Given the description of an element on the screen output the (x, y) to click on. 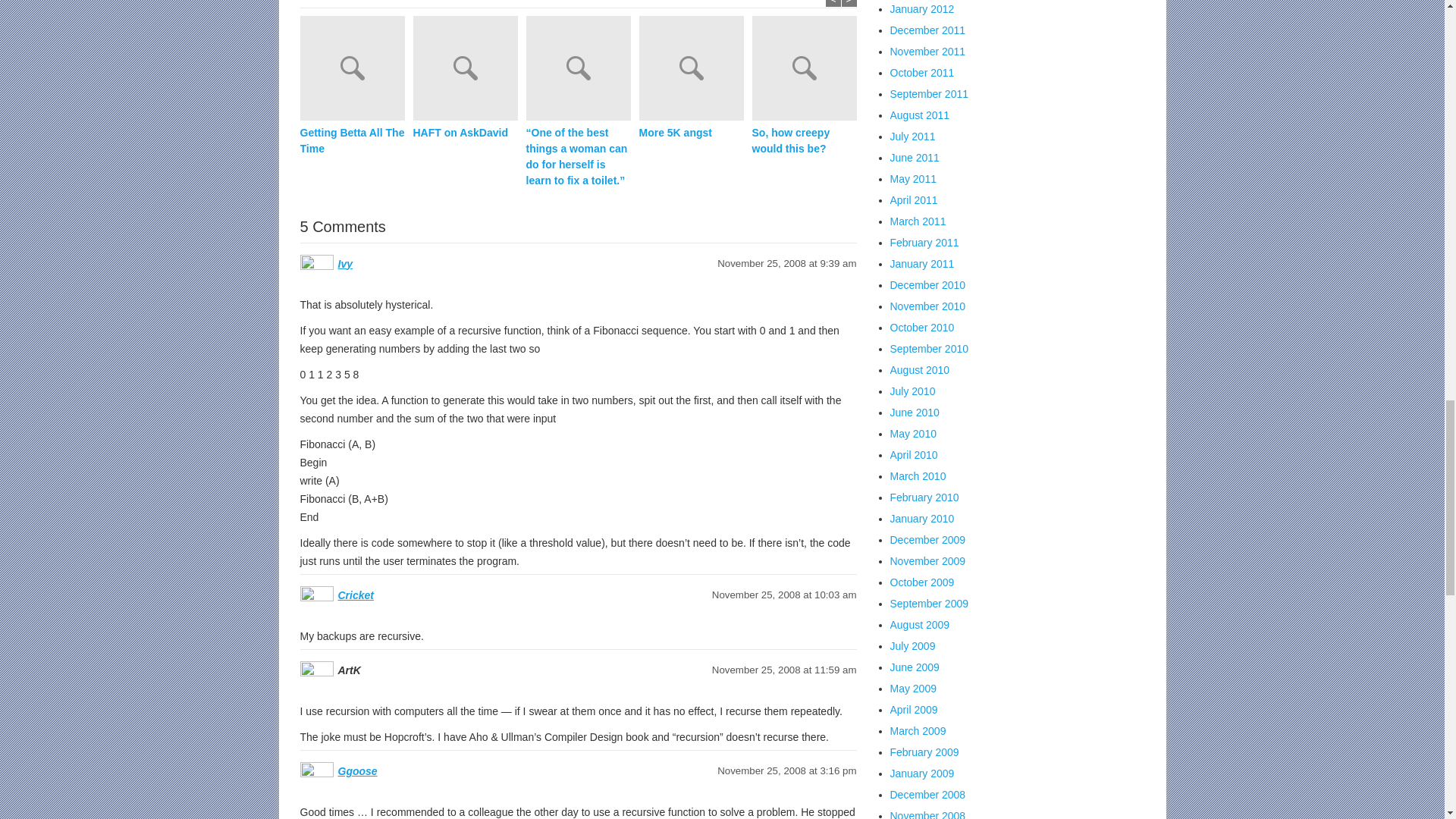
Ggoose (357, 770)
More 5K angst (690, 132)
Getting Betta All The Time (356, 70)
HAFT on AskDavid (468, 70)
HAFT on AskDavid (464, 132)
Getting Betta All The Time (351, 141)
So, how creepy would this be? (804, 141)
Getting Betta All The Time (351, 141)
Ivy (344, 263)
Cricket (355, 594)
